Given the description of an element on the screen output the (x, y) to click on. 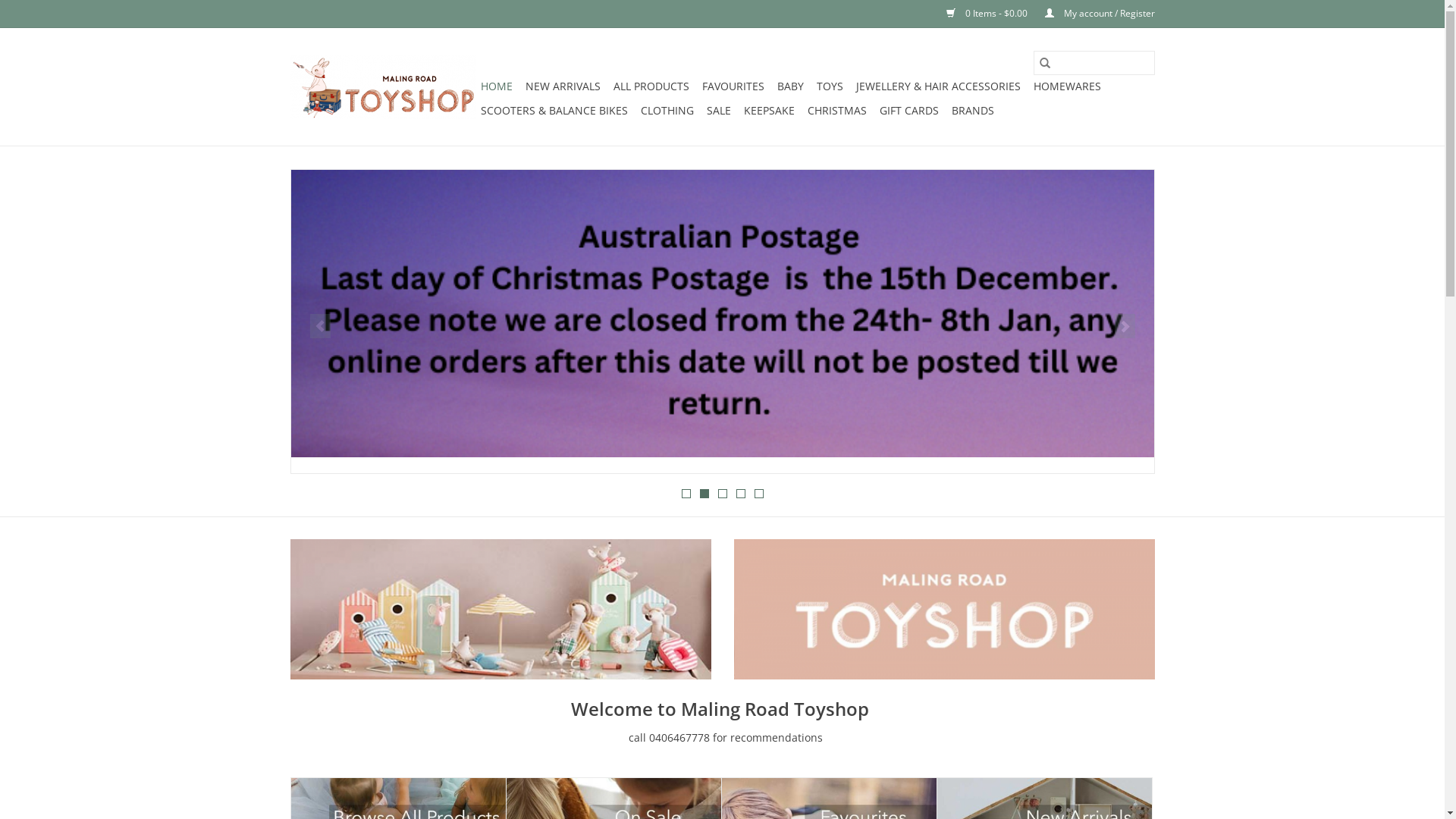
Previous Element type: hover (319, 325)
My account / Register Element type: text (1091, 12)
4 Element type: text (739, 493)
FAVOURITES Element type: text (732, 86)
CHRISTMAS Element type: text (836, 110)
NEW ARRIVALS Element type: text (562, 86)
0 Items - $0.00 Element type: text (980, 12)
TOYS Element type: text (829, 86)
KEEPSAKE Element type: text (768, 110)
3 Element type: text (721, 493)
Maling Road Toyshop Element type: hover (382, 86)
HOMEWARES Element type: text (1066, 86)
HOME Element type: text (496, 86)
ALL PRODUCTS Element type: text (650, 86)
BRANDS Element type: text (971, 110)
SCOOTERS & BALANCE BIKES Element type: text (554, 110)
BABY Element type: text (789, 86)
JEWELLERY & HAIR ACCESSORIES Element type: text (937, 86)
1 Element type: text (685, 493)
SALE Element type: text (718, 110)
GIFT CARDS Element type: text (909, 110)
CLOTHING Element type: text (666, 110)
5 Element type: text (757, 493)
Search Element type: hover (1043, 62)
Next Element type: hover (1124, 325)
2 Element type: text (703, 493)
